Given the description of an element on the screen output the (x, y) to click on. 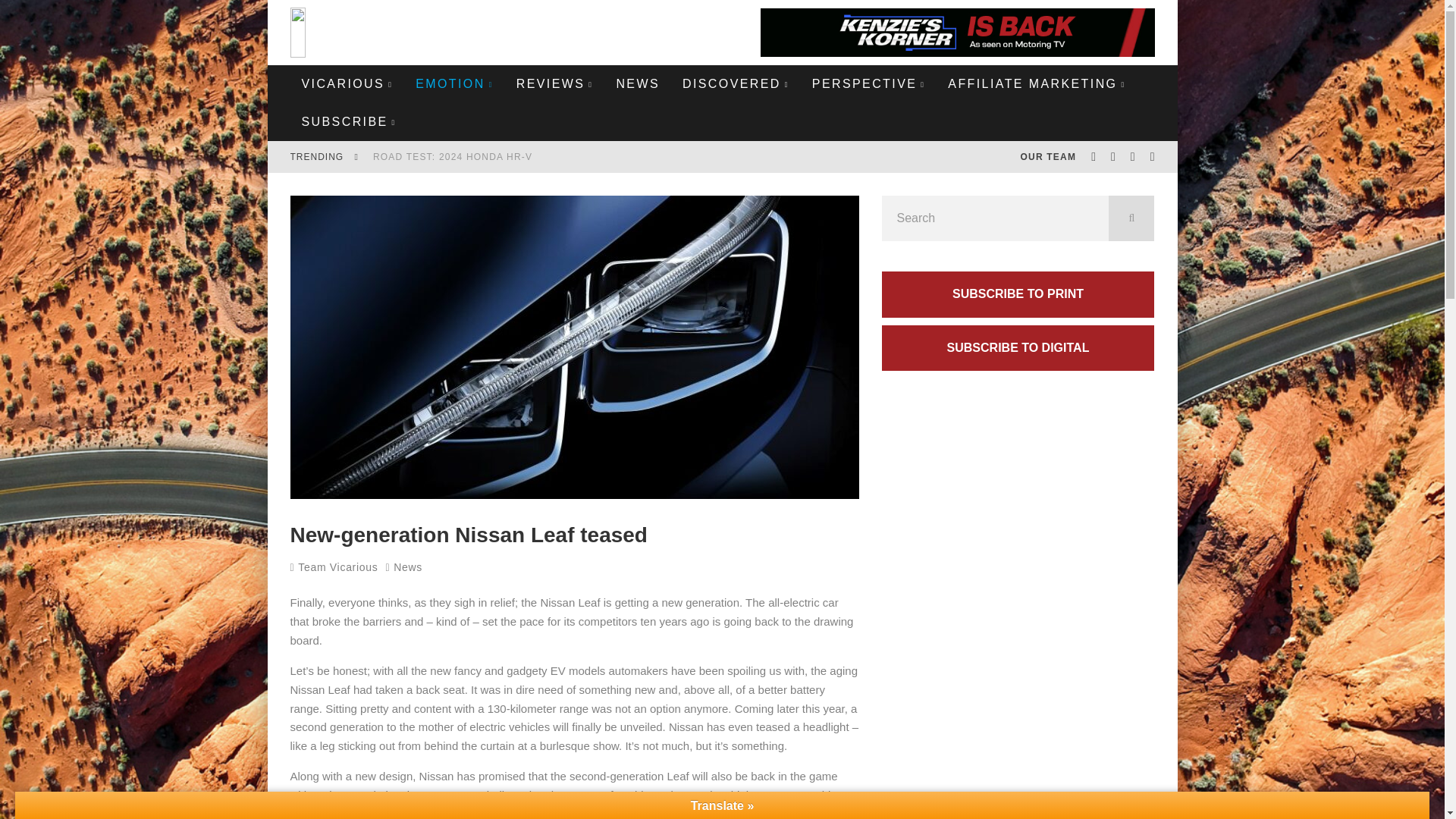
VICARIOUS (346, 84)
Road Test: 2024 Honda HR-V (452, 156)
REVIEWS (555, 84)
Advertisement (1017, 731)
EMOTION (454, 84)
